Given the description of an element on the screen output the (x, y) to click on. 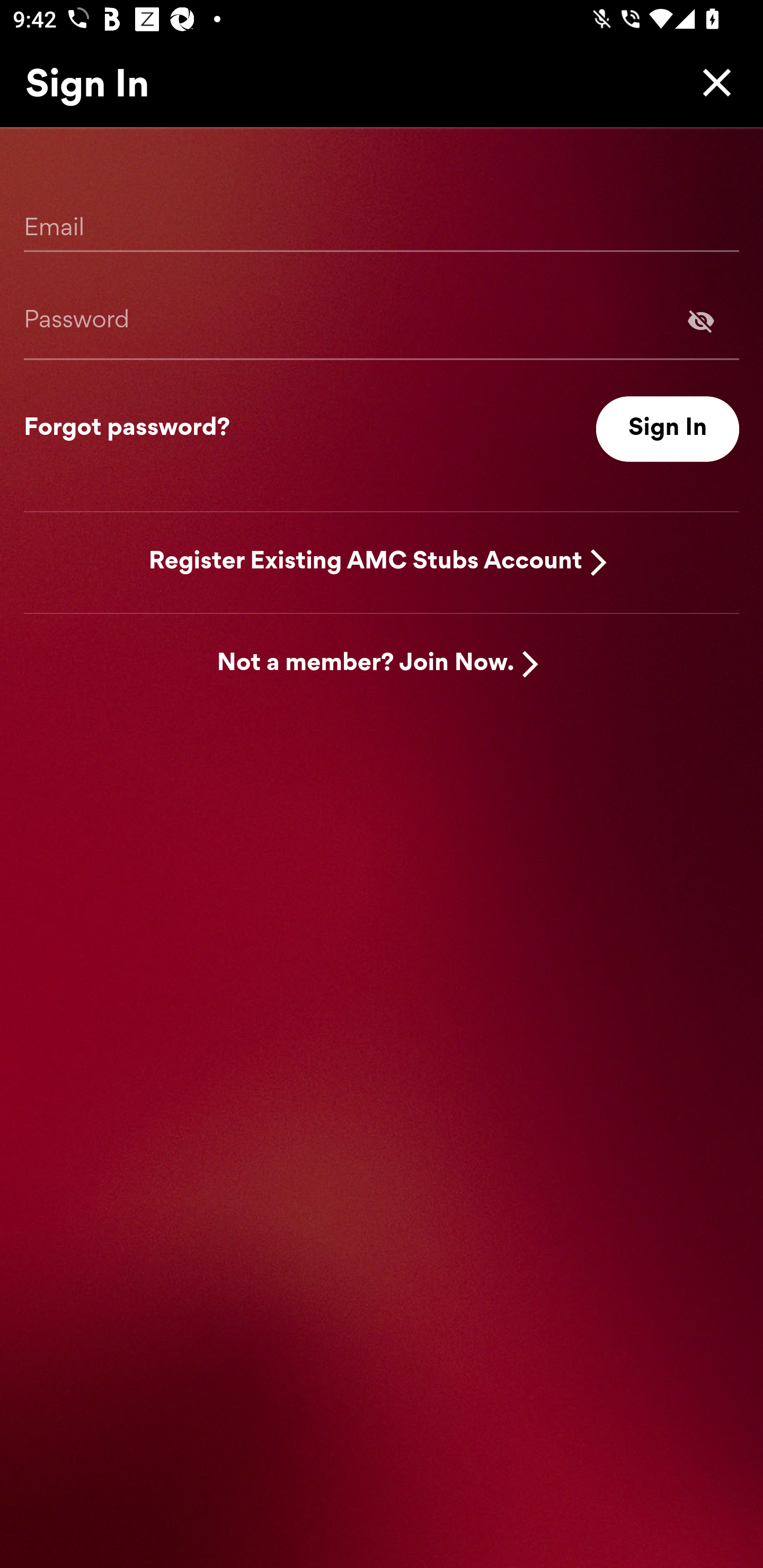
Close (712, 82)
Hide Password (381, 320)
Hide Password (701, 320)
Forgot password? (126, 428)
Sign In (667, 428)
Register Existing AMC Stubs Account (365, 561)
Not a member? Join Now. (365, 663)
